Given the description of an element on the screen output the (x, y) to click on. 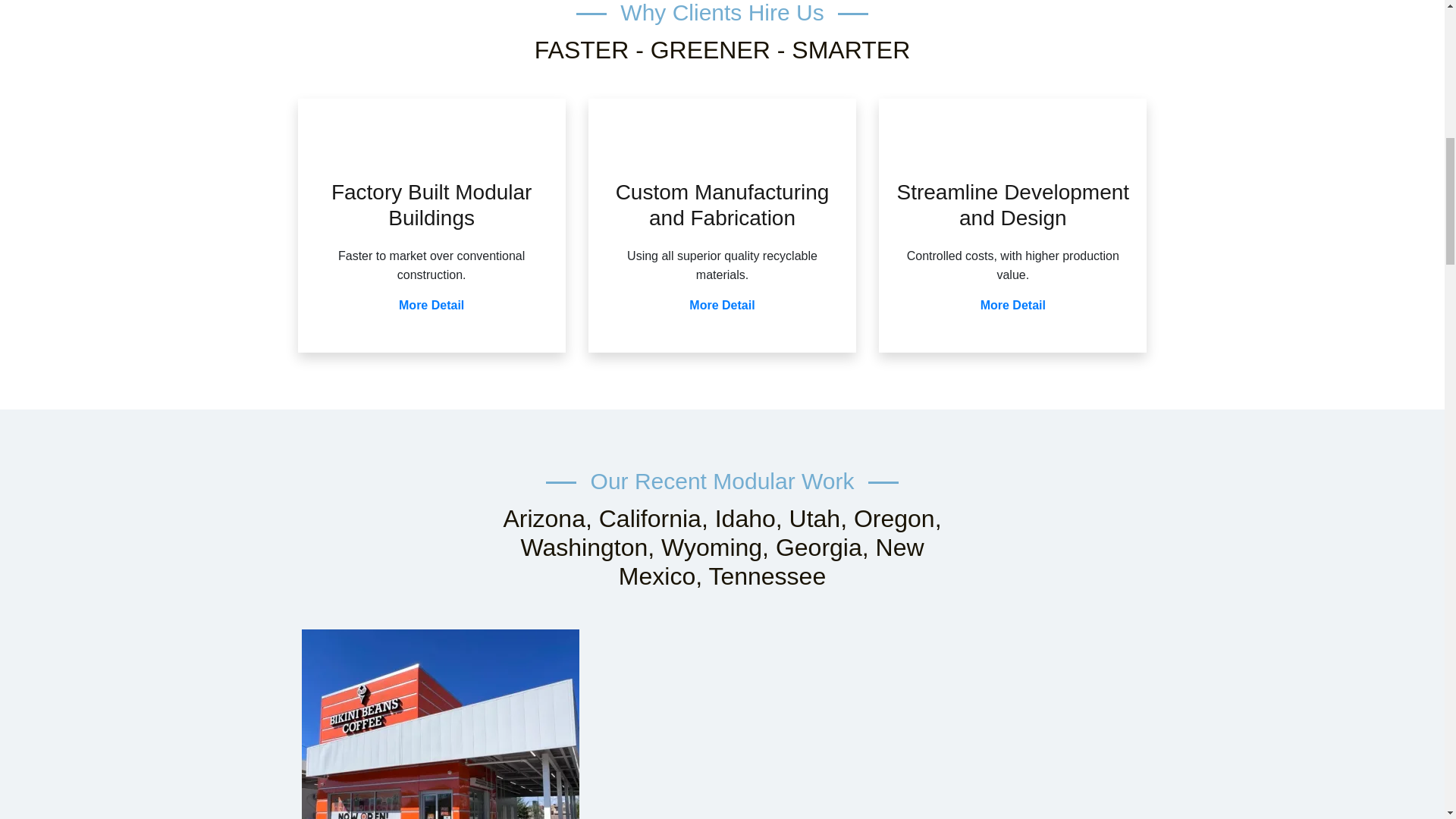
More Detail (431, 305)
More Detail (721, 305)
More Detail (1012, 305)
